Given the description of an element on the screen output the (x, y) to click on. 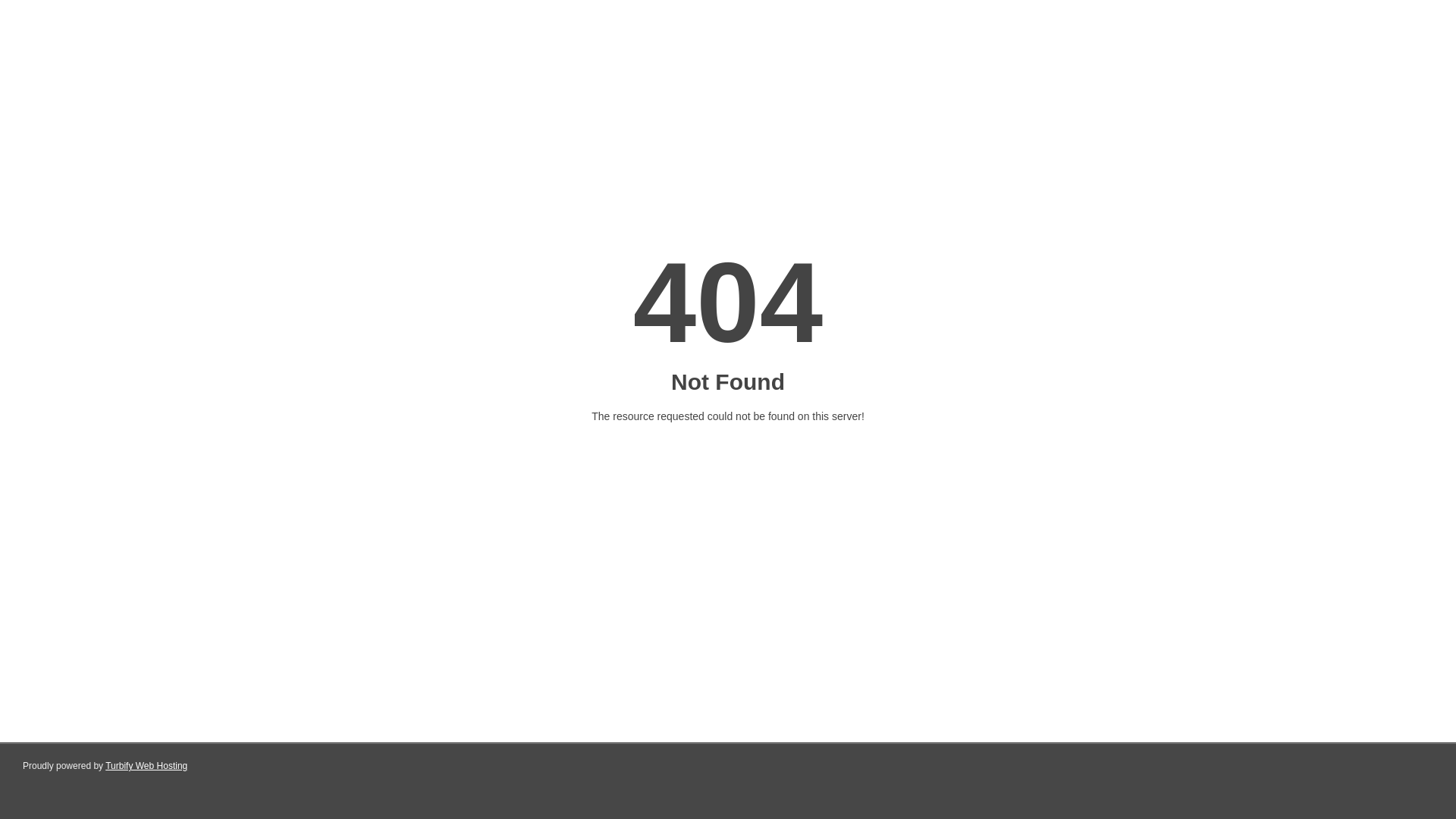
Turbify Web Hosting Element type: text (146, 765)
